Given the description of an element on the screen output the (x, y) to click on. 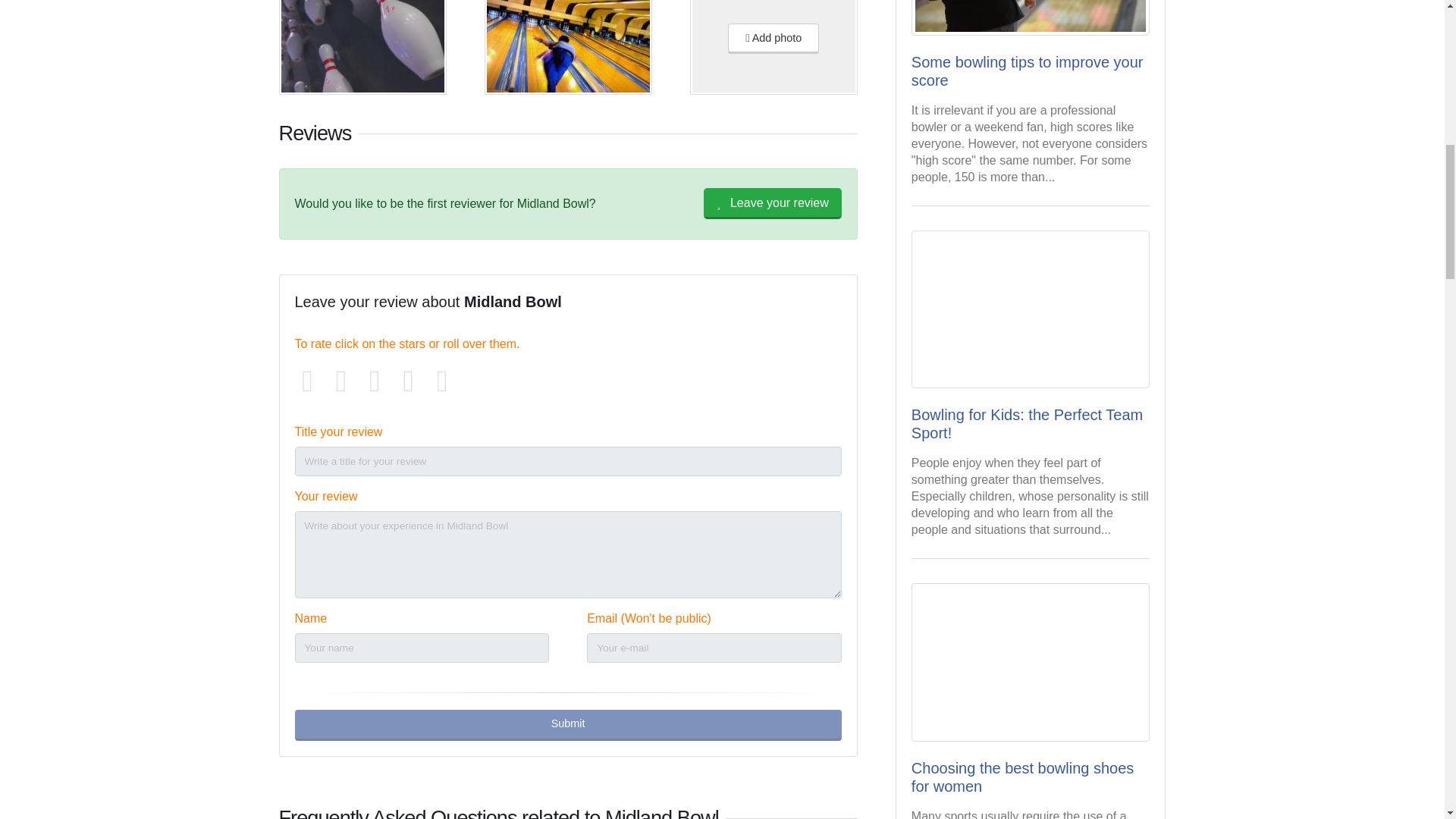
Leave your review (772, 203)
Midland Bowl, Fort Smith 72901, AR - Photo 1 of 2 (362, 47)
Midland Bowl, Fort Smith 72901, AR - Photo 2 of 2 (568, 47)
